Given the description of an element on the screen output the (x, y) to click on. 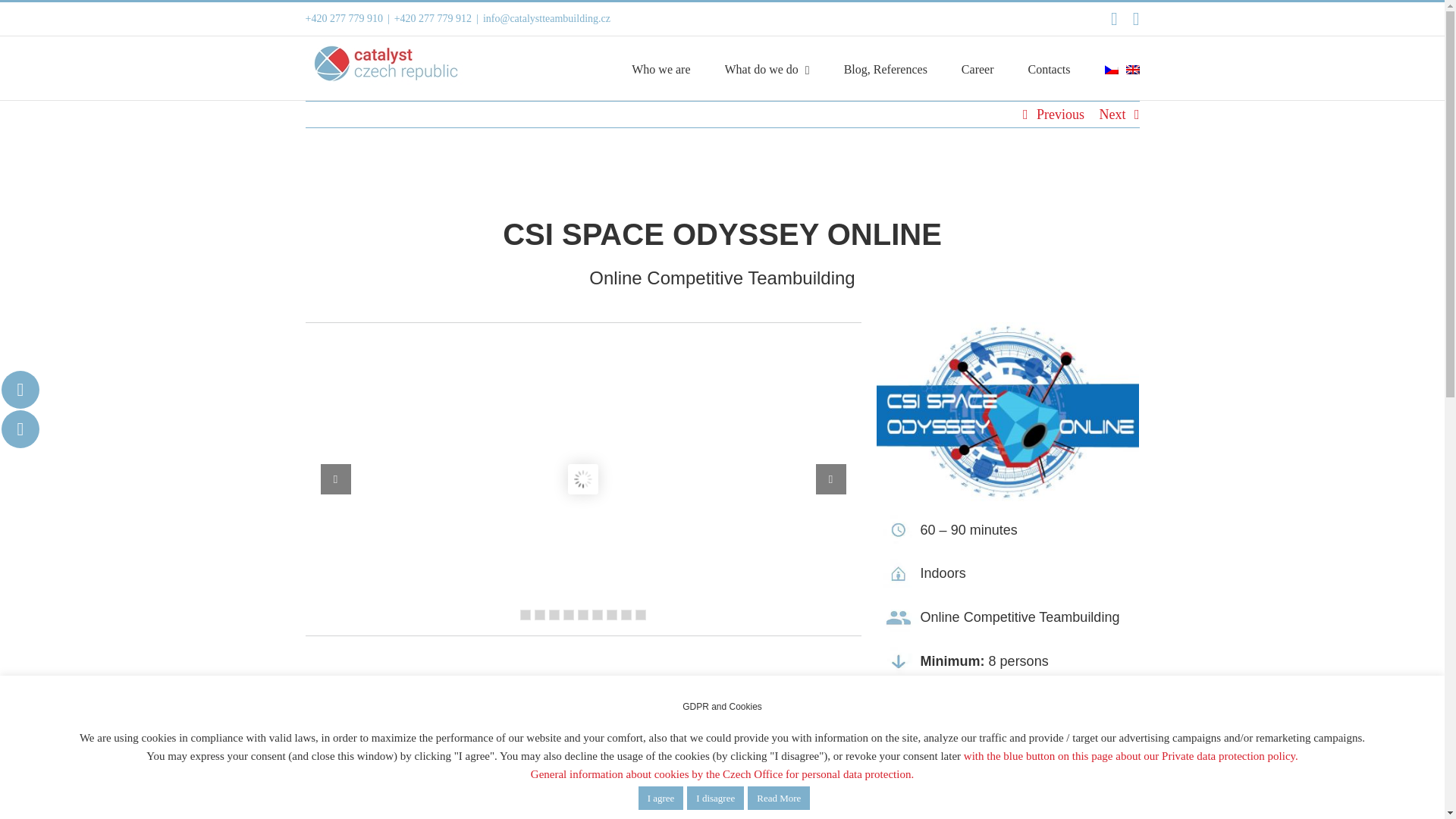
CSI Space Odyssey Online Game Logo (1008, 414)
Who we are (721, 248)
Blog, References (660, 67)
What do we do (885, 67)
